Given the description of an element on the screen output the (x, y) to click on. 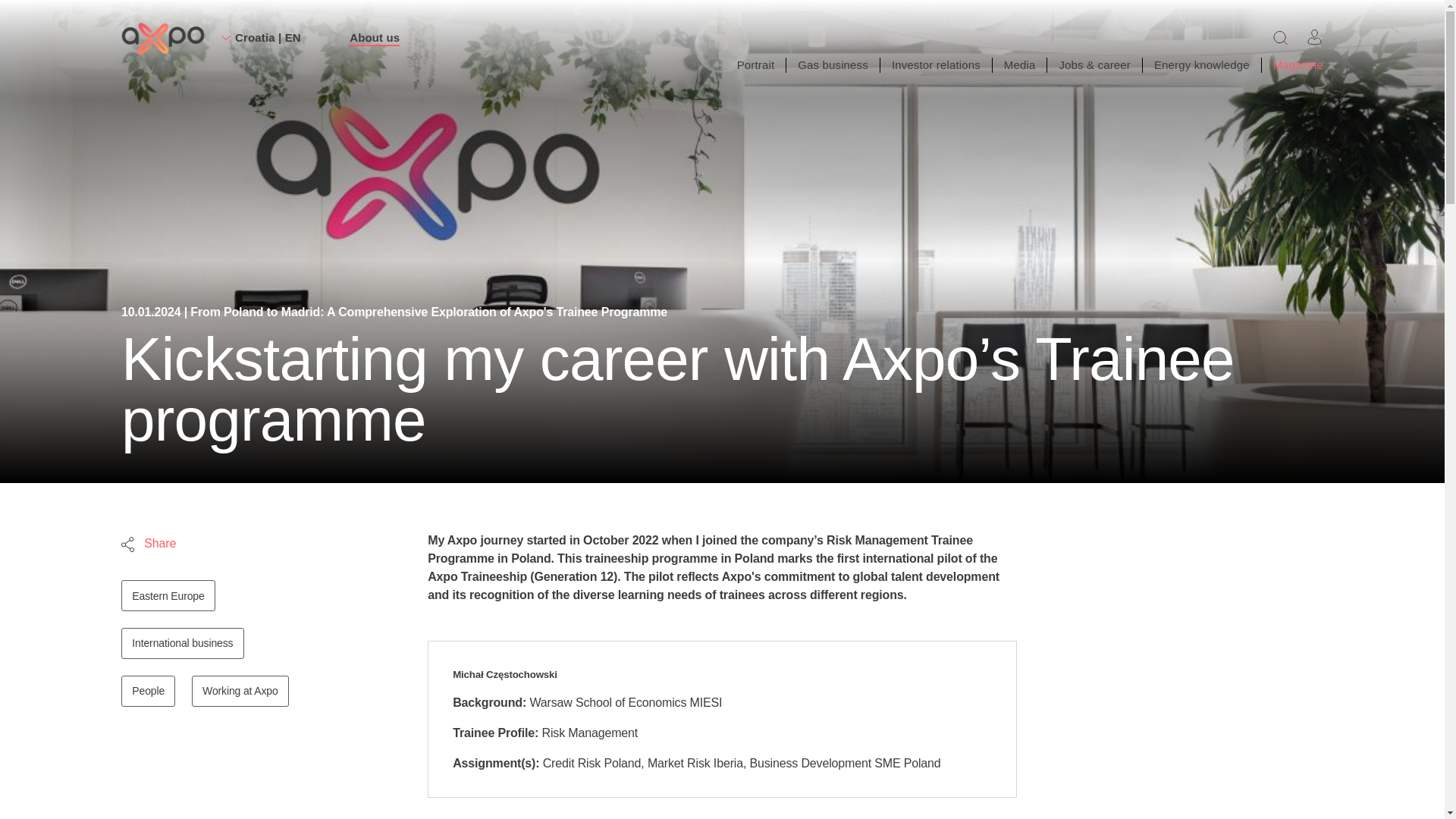
About us (373, 37)
Gas business (832, 64)
Portrait (755, 64)
Customer Portal (1314, 36)
Investor relations (935, 64)
About us (162, 40)
Media (1019, 64)
Toggle Search Form (1279, 36)
